Given the description of an element on the screen output the (x, y) to click on. 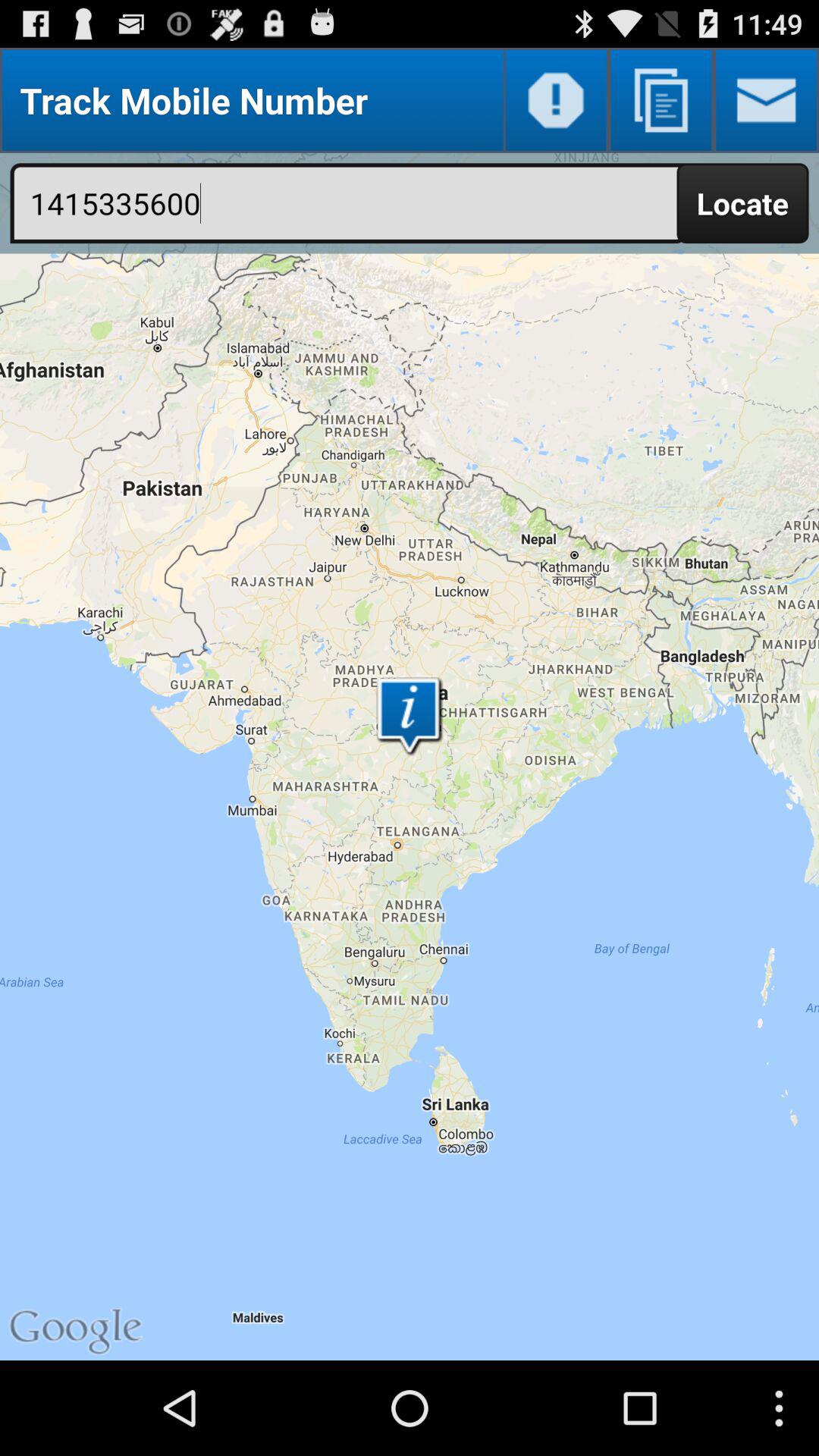
send message (766, 99)
